Given the description of an element on the screen output the (x, y) to click on. 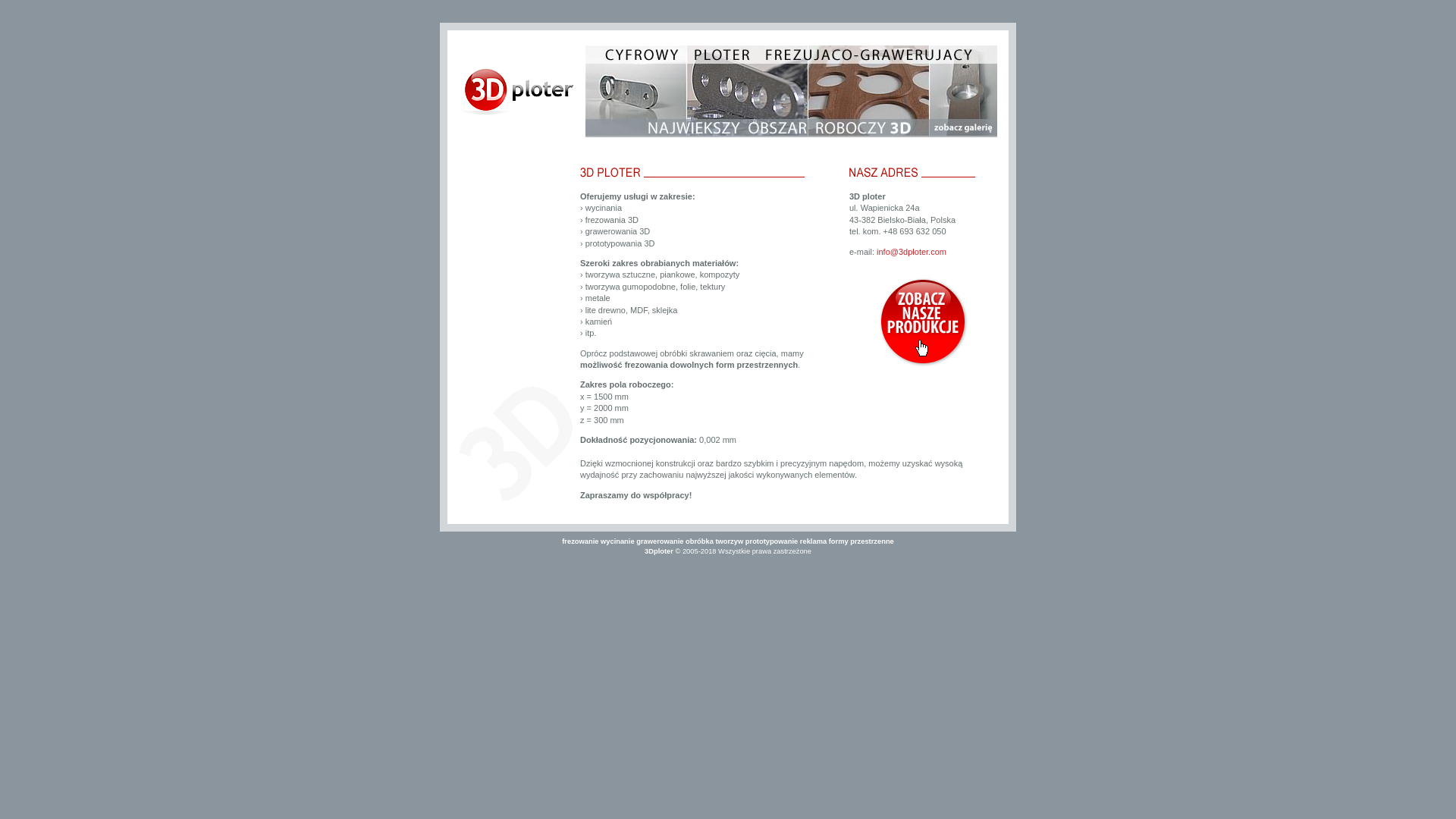
info@3dploter.com Element type: text (911, 251)
